Given the description of an element on the screen output the (x, y) to click on. 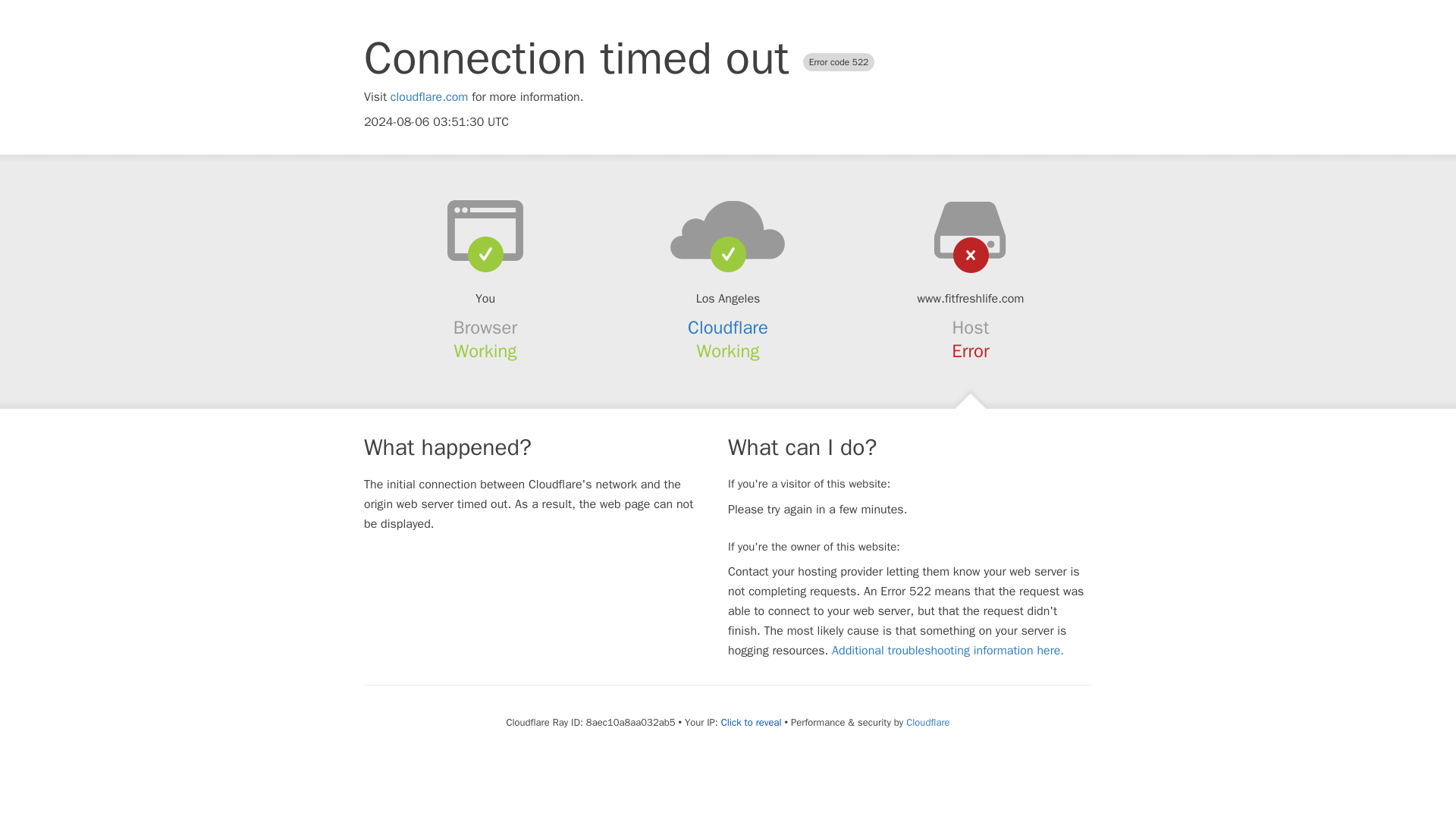
cloudflare.com (429, 96)
Click to reveal (750, 722)
Cloudflare (727, 327)
Cloudflare (927, 721)
Additional troubleshooting information here. (947, 650)
